Given the description of an element on the screen output the (x, y) to click on. 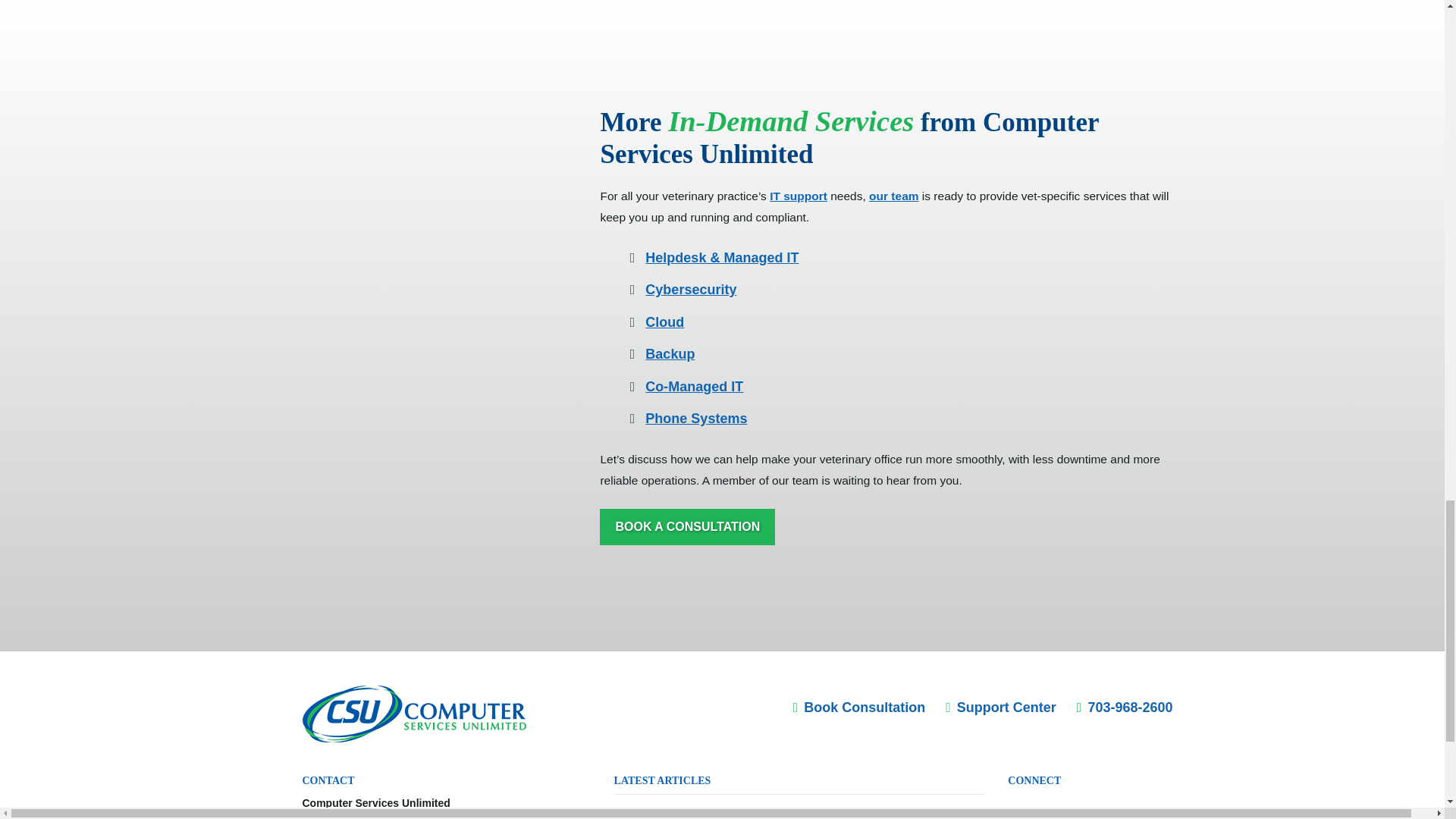
Cloud (664, 322)
Book Consultation (859, 707)
Backup (669, 353)
Phone Systems (695, 418)
IT support (798, 195)
Co-Managed IT (693, 386)
our team (893, 195)
Support Center (1000, 707)
703-968-2600 (1125, 707)
